Given the description of an element on the screen output the (x, y) to click on. 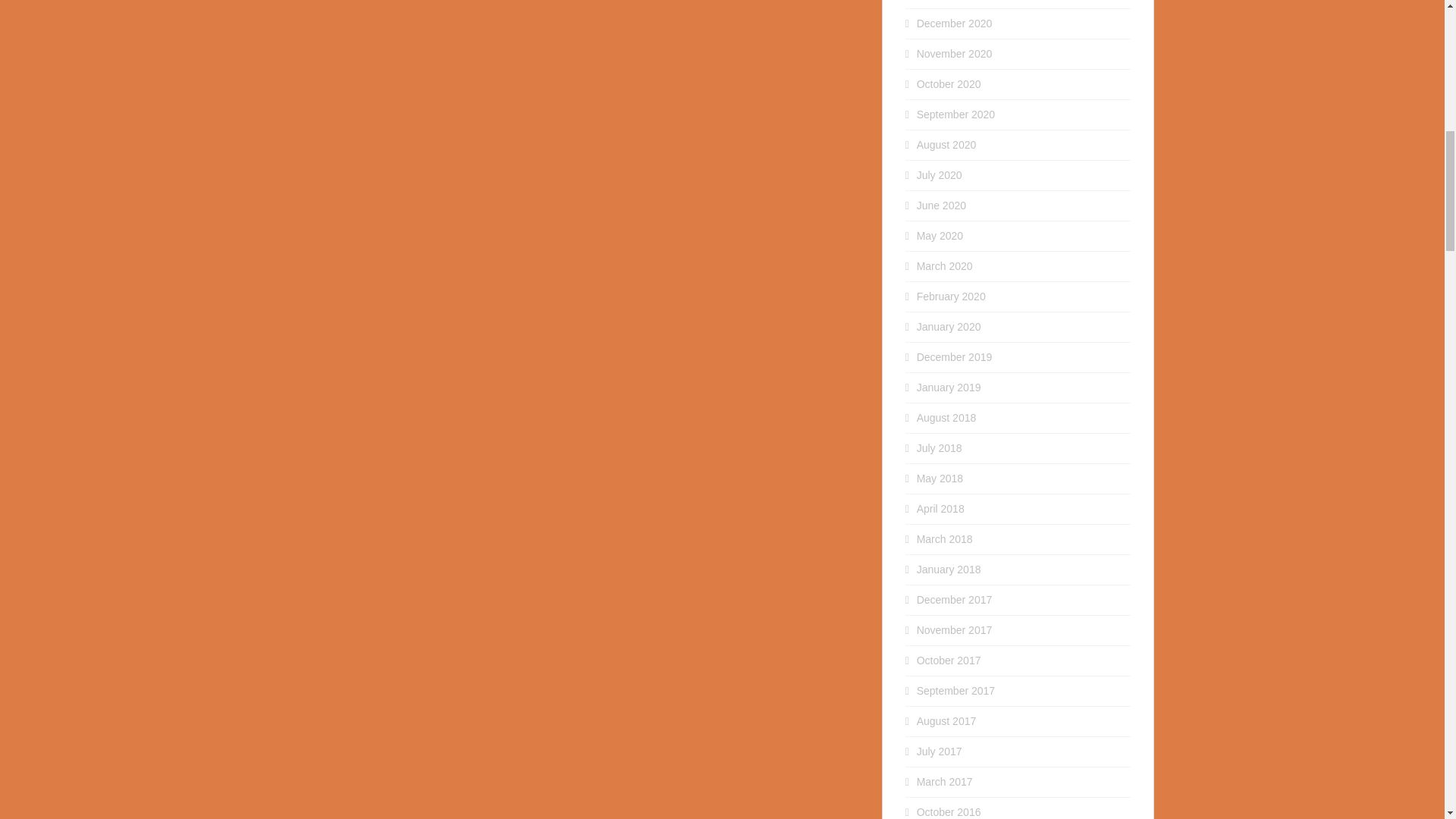
July 2020 (939, 174)
November 2020 (954, 53)
December 2020 (954, 23)
August 2020 (946, 144)
October 2020 (949, 83)
September 2020 (956, 114)
June 2020 (941, 205)
